Given the description of an element on the screen output the (x, y) to click on. 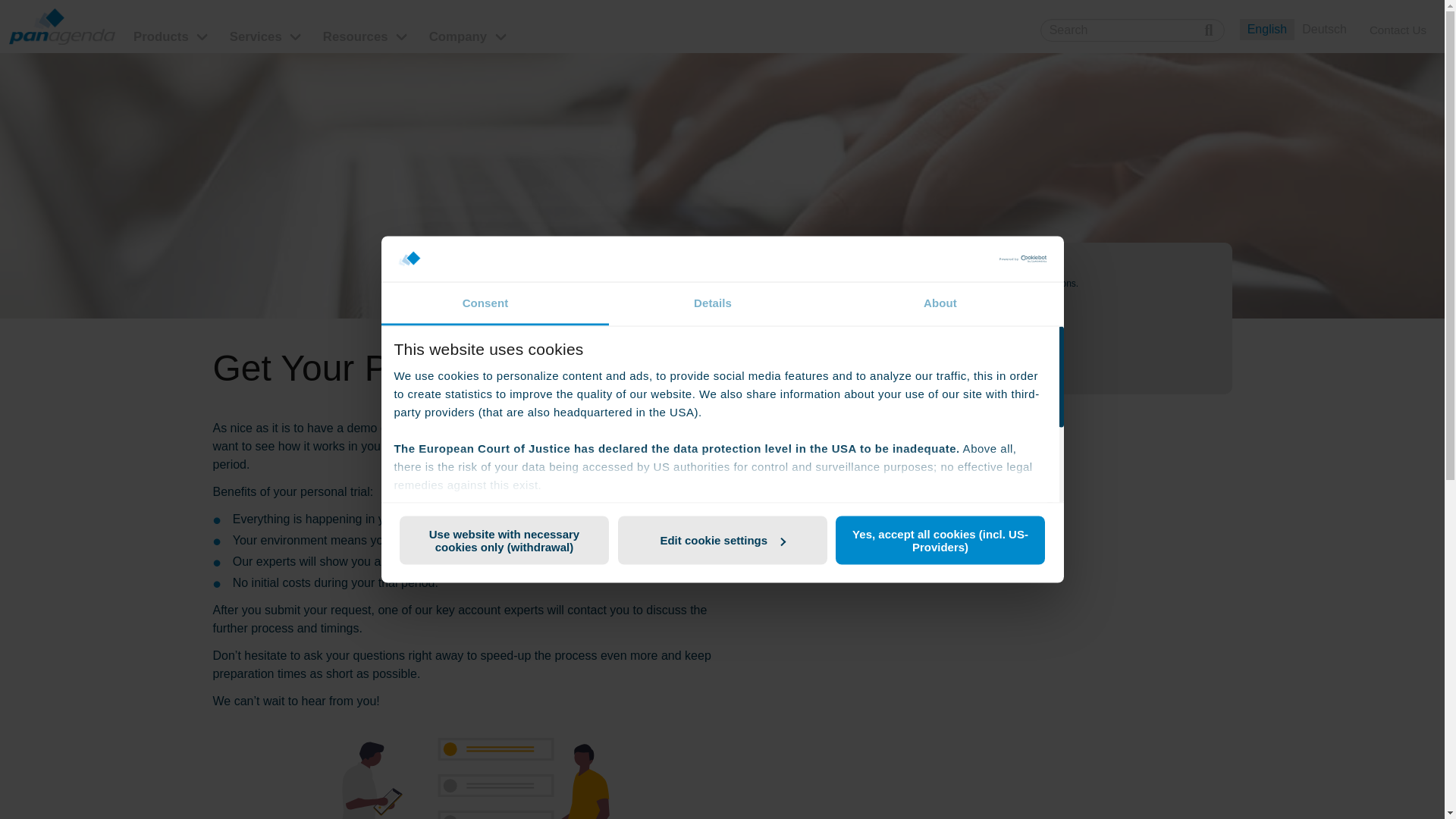
About (948, 303)
Cookie Policy Page (926, 521)
Data protection policy (457, 594)
Legal notice (428, 612)
Details (721, 303)
Consent (494, 303)
